Given the description of an element on the screen output the (x, y) to click on. 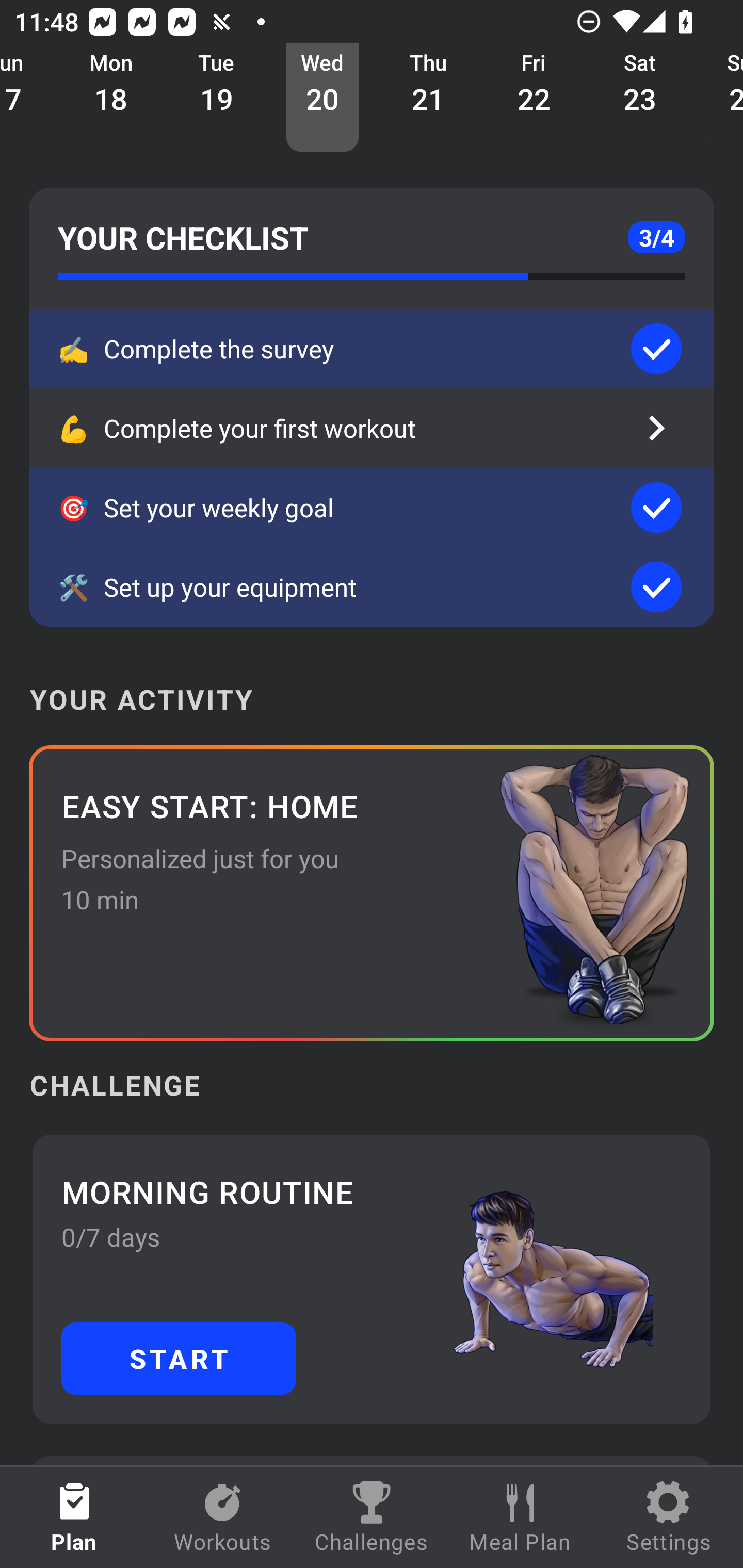
Mon 18 (110, 97)
Tue 19 (216, 97)
Wed 20 (322, 97)
Thu 21 (428, 97)
Fri 22 (533, 97)
Sat 23 (639, 97)
💪 Complete your first workout (371, 427)
EASY START: HOME Personalized just for you 10 min (371, 892)
MORNING ROUTINE 0/7 days START (371, 1278)
START (178, 1357)
 Workouts  (222, 1517)
 Challenges  (371, 1517)
 Meal Plan  (519, 1517)
 Settings  (668, 1517)
